Given the description of an element on the screen output the (x, y) to click on. 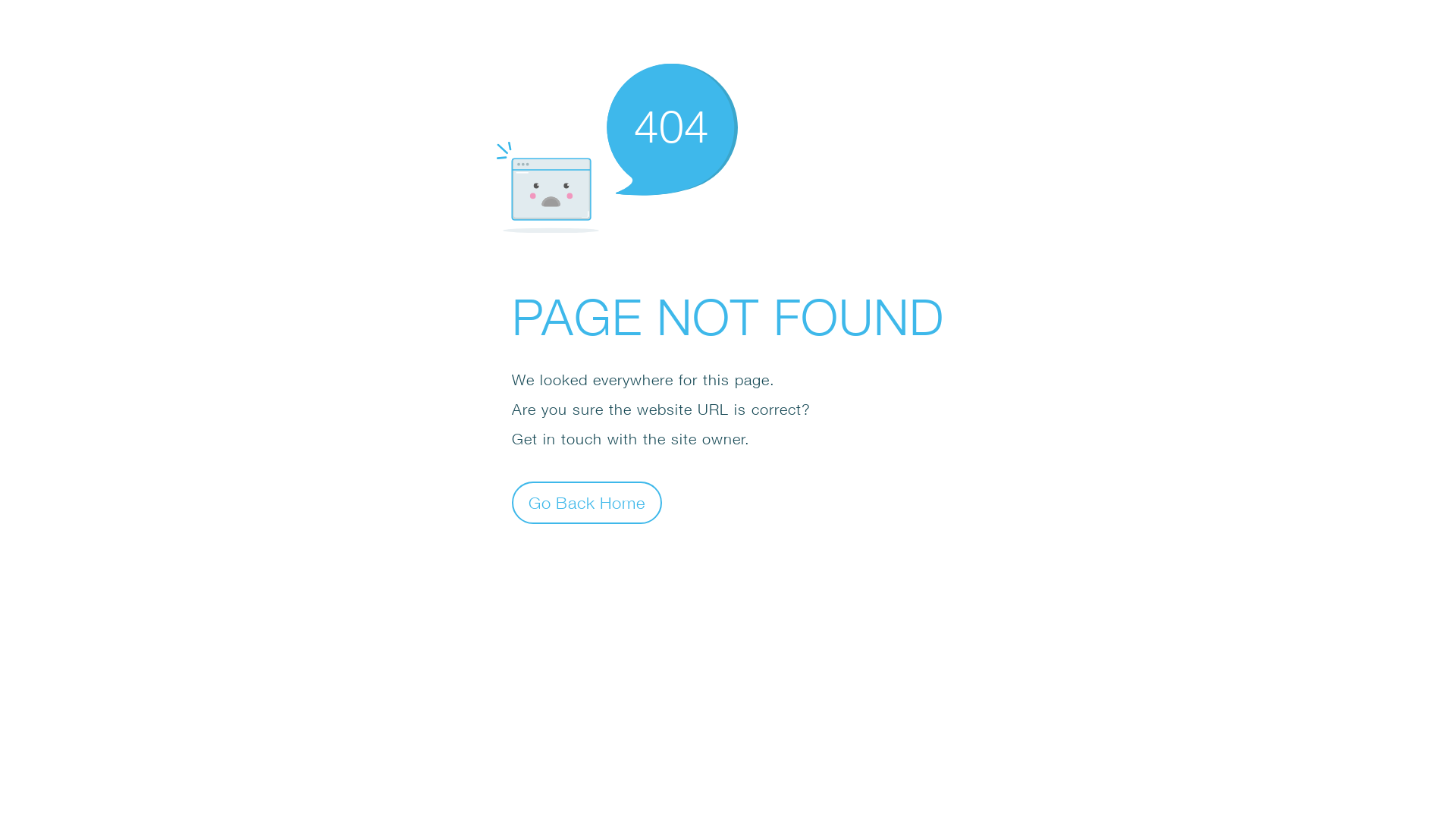
Go Back Home Element type: text (586, 502)
